Given the description of an element on the screen output the (x, y) to click on. 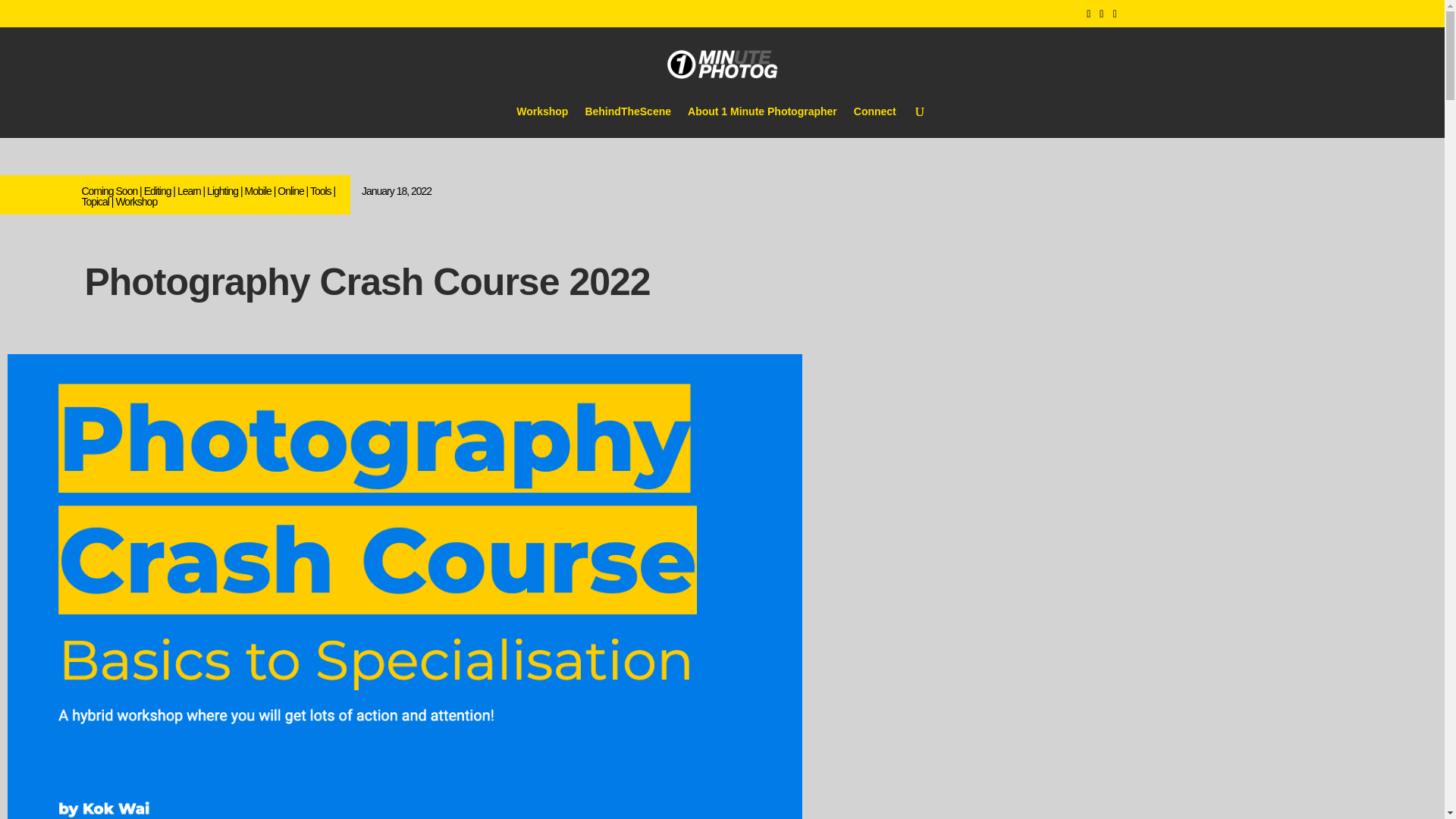
About 1 Minute Photographer (762, 122)
Editing (157, 191)
Lighting (222, 191)
Mobile (257, 191)
Tools (320, 191)
Learn (188, 191)
BehindTheScene (628, 122)
Workshop (541, 122)
Topical (95, 201)
Connect (874, 122)
Workshop (136, 201)
Coming Soon (108, 191)
Online (290, 191)
